Given the description of an element on the screen output the (x, y) to click on. 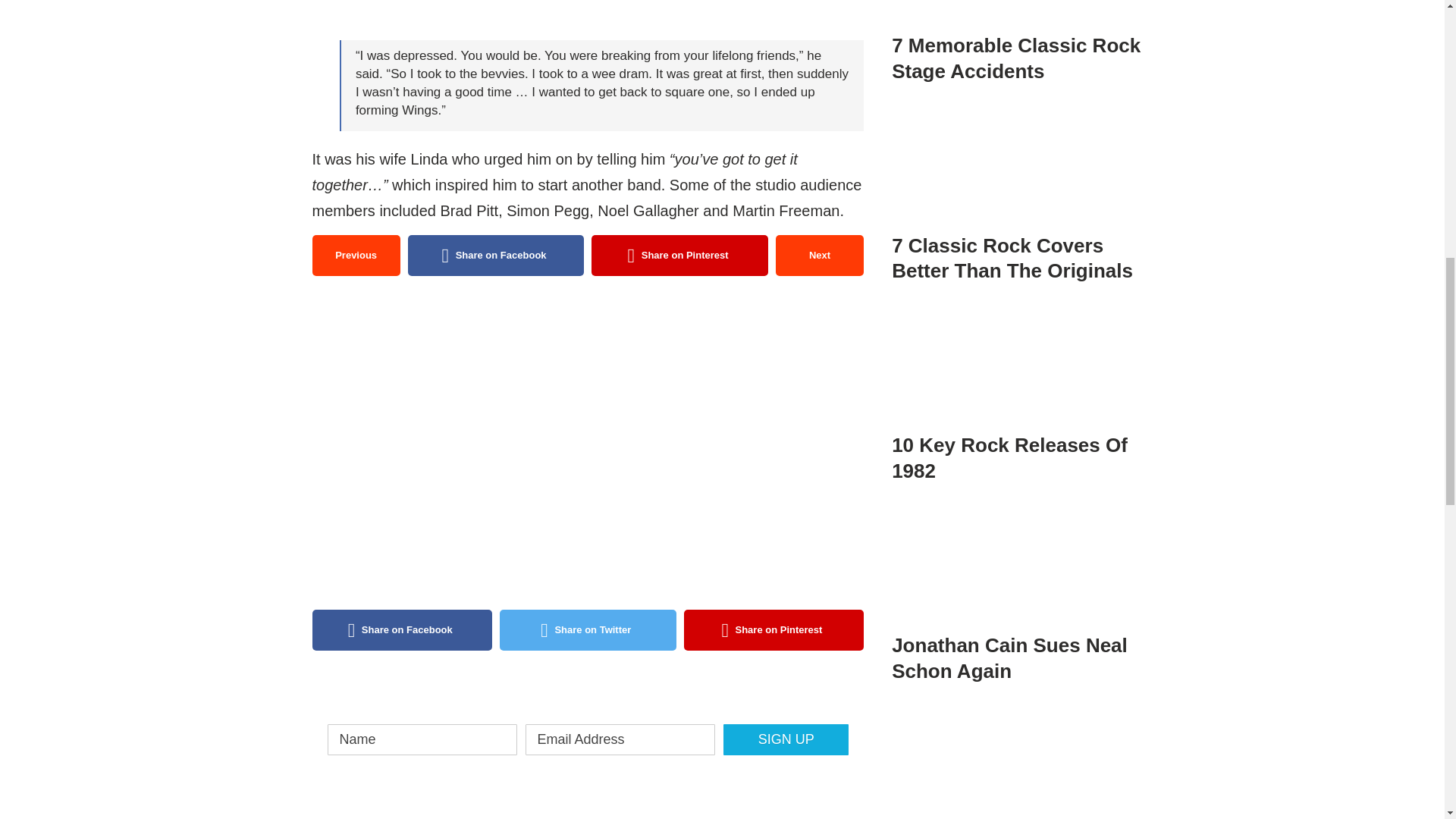
7 Memorable Classic Rock Stage Accidents (1019, 28)
7 Memorable Classic Rock Stage Accidents (1019, 13)
7 Classic Rock Covers Better Than the Originals (1019, 166)
Share on Pinterest (774, 629)
7 Classic Rock Covers Better Than the Originals (1019, 189)
7 Memorable Classic Rock Stage Accidents (1015, 58)
Share on Pinterest (679, 255)
Sign Up (785, 739)
